Given the description of an element on the screen output the (x, y) to click on. 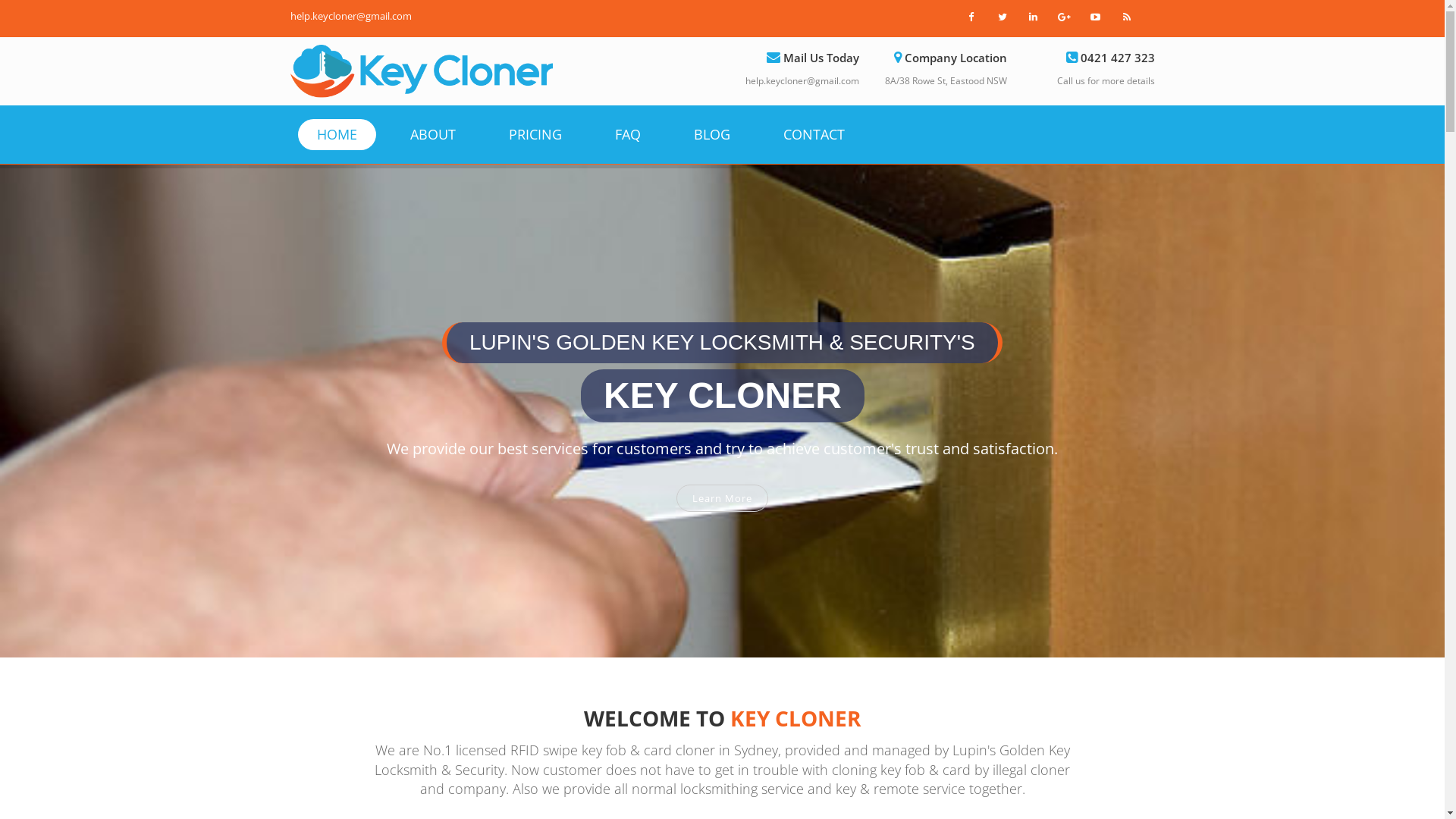
Call us for more details Element type: text (1105, 80)
help.keycloner@gmail.com Element type: text (801, 80)
ABOUT Element type: text (432, 134)
CONTACT Element type: text (813, 134)
BLOG Element type: text (711, 134)
FAQ Element type: text (627, 134)
PRICING Element type: text (534, 134)
HOME Element type: text (336, 134)
8A/38 Rowe St, Eastood NSW Element type: text (945, 80)
Learn More Element type: text (722, 505)
help.keycloner@gmail.com Element type: text (350, 15)
